Given the description of an element on the screen output the (x, y) to click on. 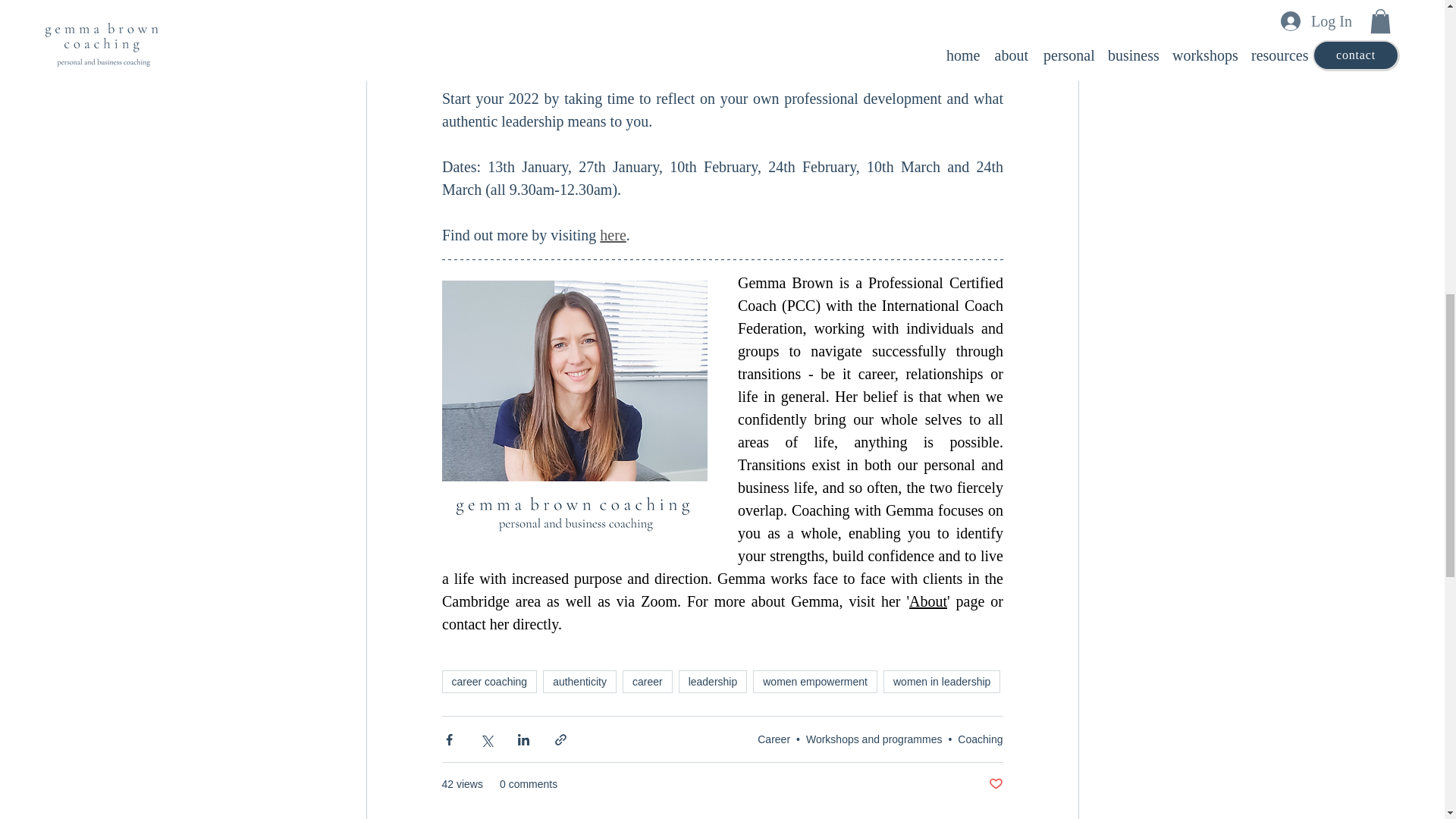
leadership (713, 681)
About (927, 600)
career coaching (489, 681)
authenticity (579, 681)
here (612, 234)
career (647, 681)
